Given the description of an element on the screen output the (x, y) to click on. 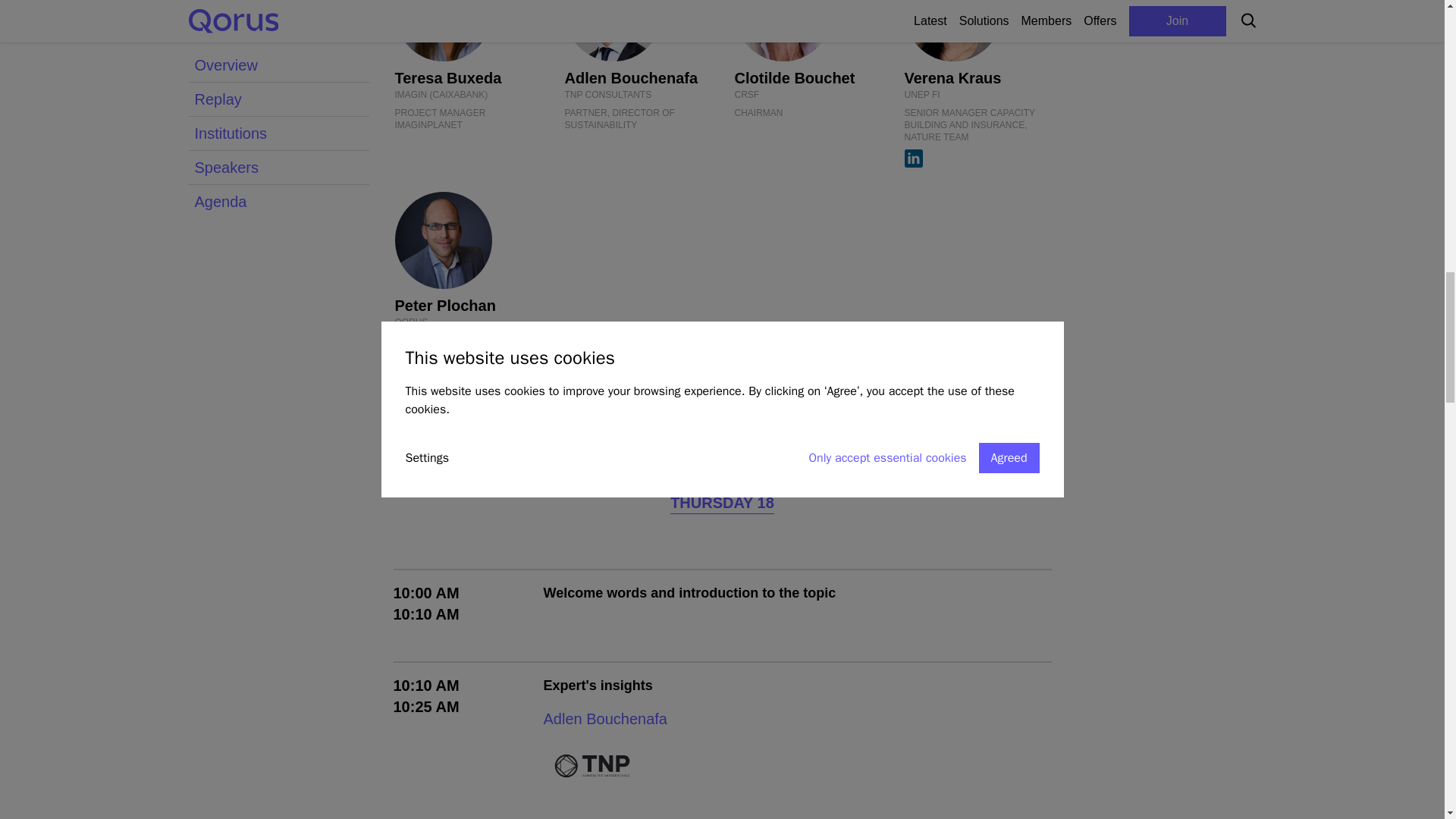
THURSDAY 18 (721, 506)
Adlen Bouchenafa (604, 718)
THURSDAY 18 (721, 503)
